Given the description of an element on the screen output the (x, y) to click on. 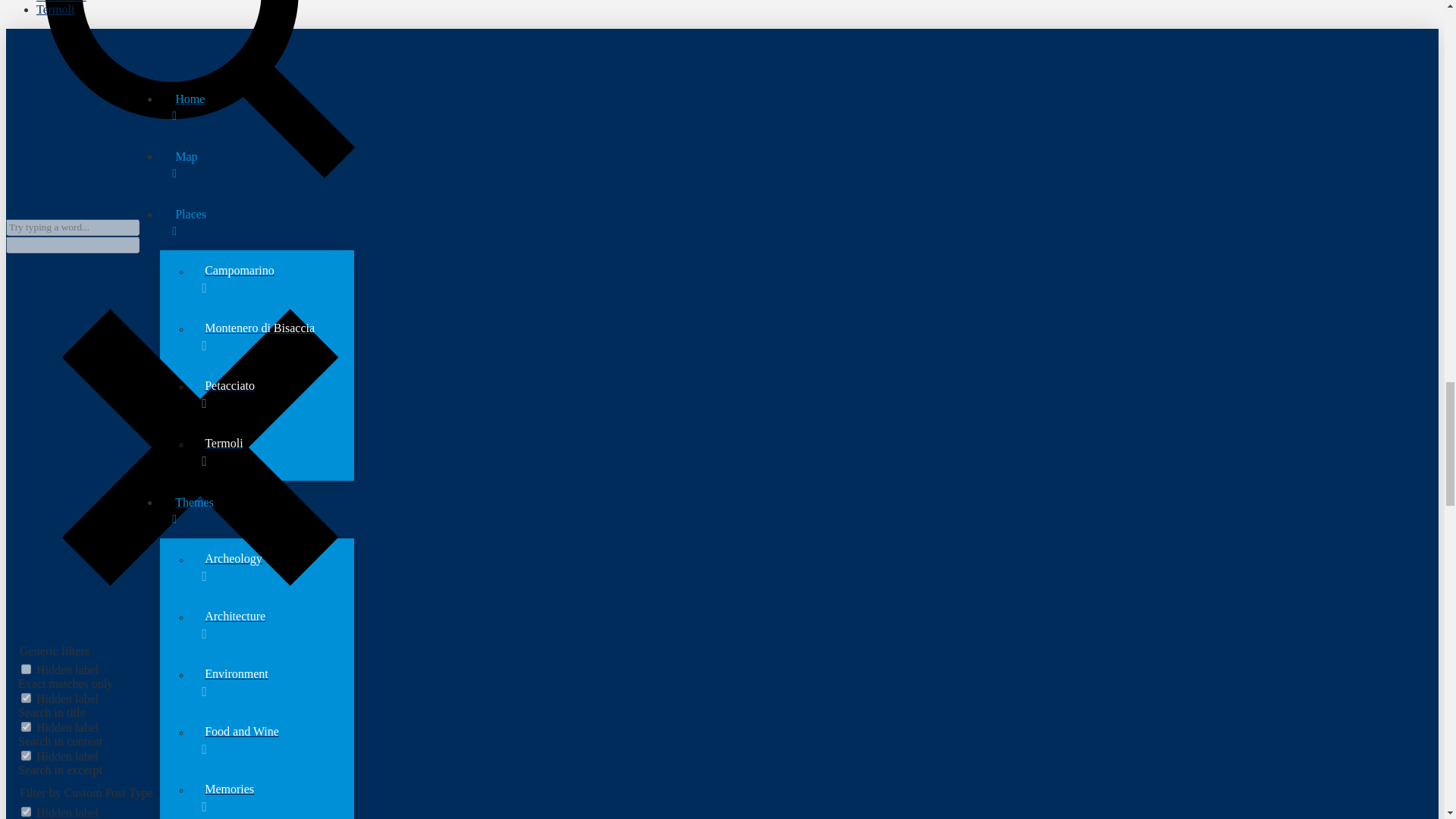
Places (737, 221)
post (25, 811)
exact (25, 669)
Petacciato (60, 1)
content (25, 726)
Home (737, 105)
Termoli (55, 9)
Map (737, 163)
title (25, 697)
